Given the description of an element on the screen output the (x, y) to click on. 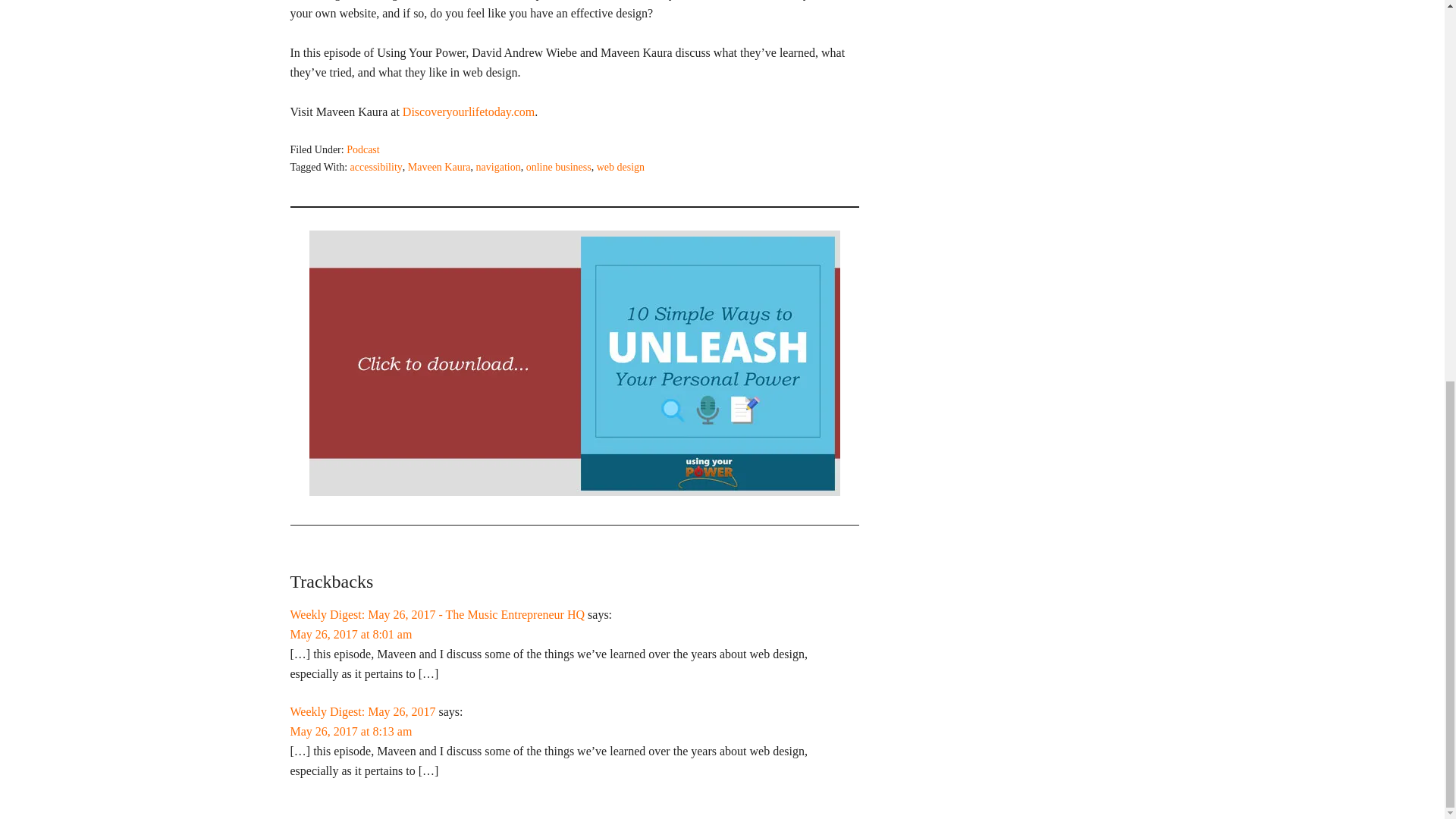
Maveen Kaura (438, 166)
online business (558, 166)
accessibility (376, 166)
Podcast (363, 149)
May 26, 2017 at 8:01 am (350, 634)
web design (620, 166)
May 26, 2017 at 8:13 am (350, 730)
navigation (498, 166)
Weekly Digest: May 26, 2017 (362, 711)
Discoveryourlifetoday.com (468, 111)
Weekly Digest: May 26, 2017 - The Music Entrepreneur HQ (437, 614)
